Given the description of an element on the screen output the (x, y) to click on. 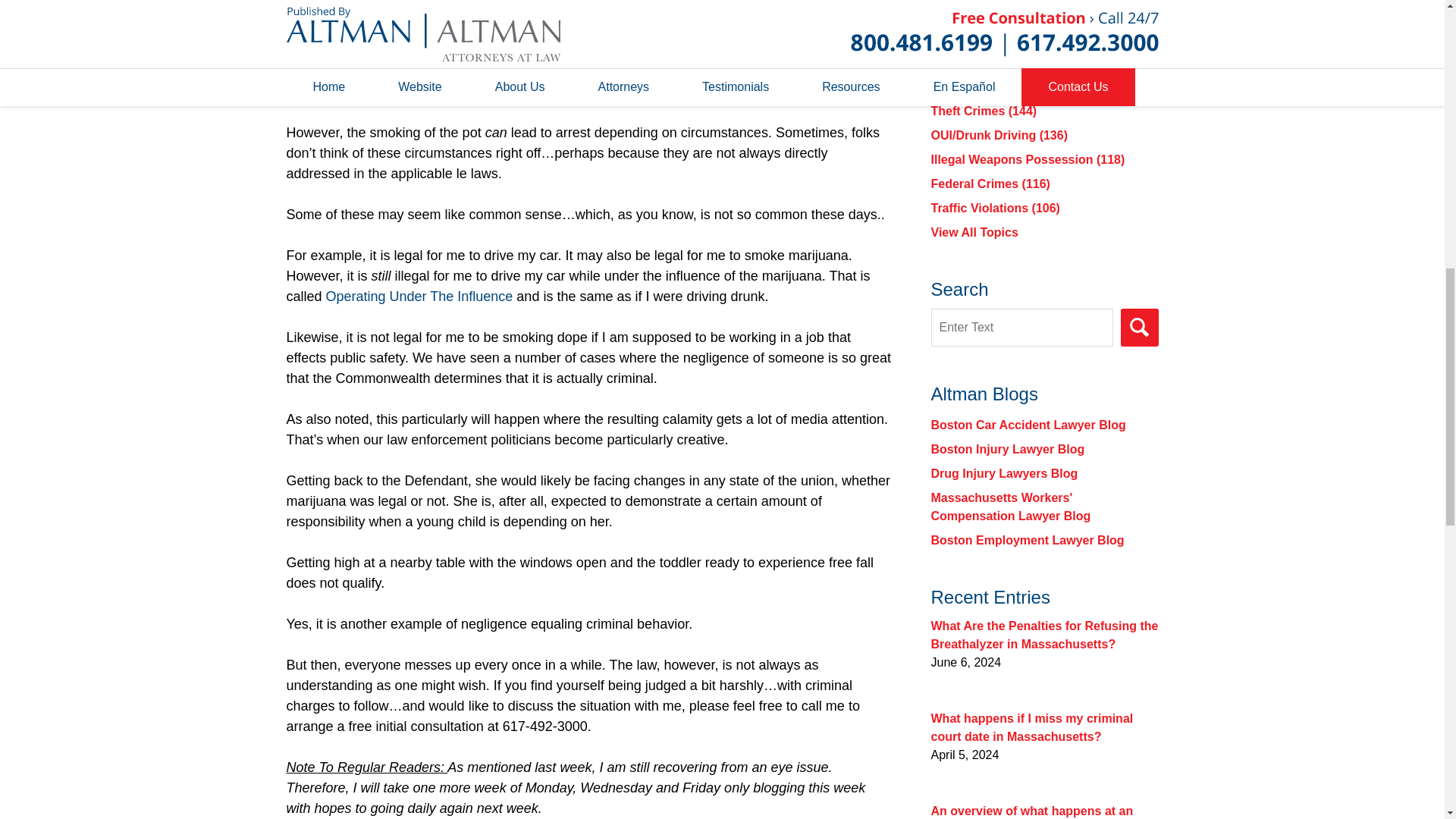
Operating Under The Influence (421, 296)
